Given the description of an element on the screen output the (x, y) to click on. 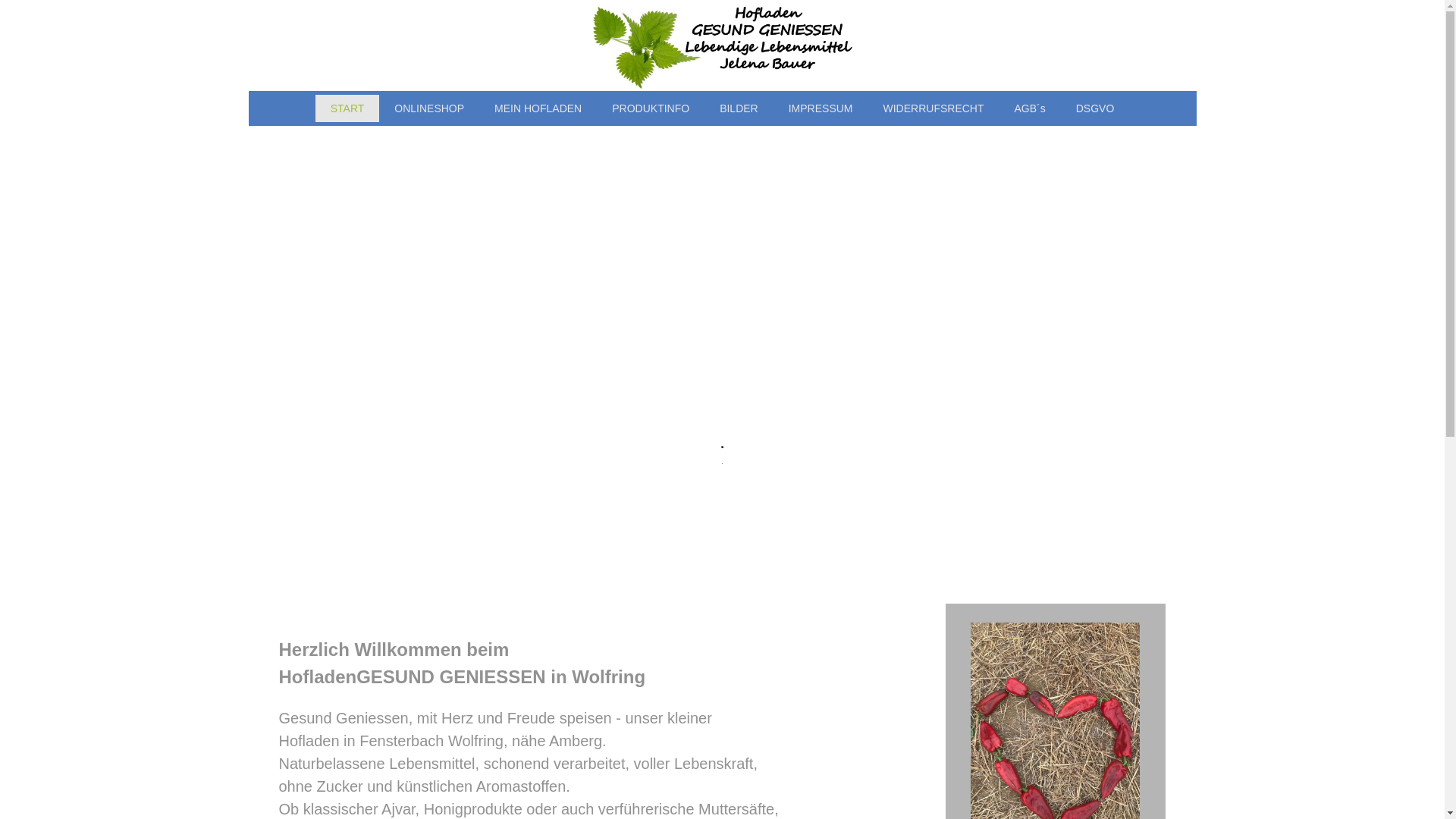
IMPRESSUM Element type: text (820, 108)
PRODUKTINFO Element type: text (650, 108)
WIDERRUFSRECHT Element type: text (932, 108)
ONLINESHOP Element type: text (429, 108)
BILDER Element type: text (738, 108)
START Element type: text (347, 108)
DSGVO Element type: text (1094, 108)
MEIN HOFLADEN Element type: text (537, 108)
